Given the description of an element on the screen output the (x, y) to click on. 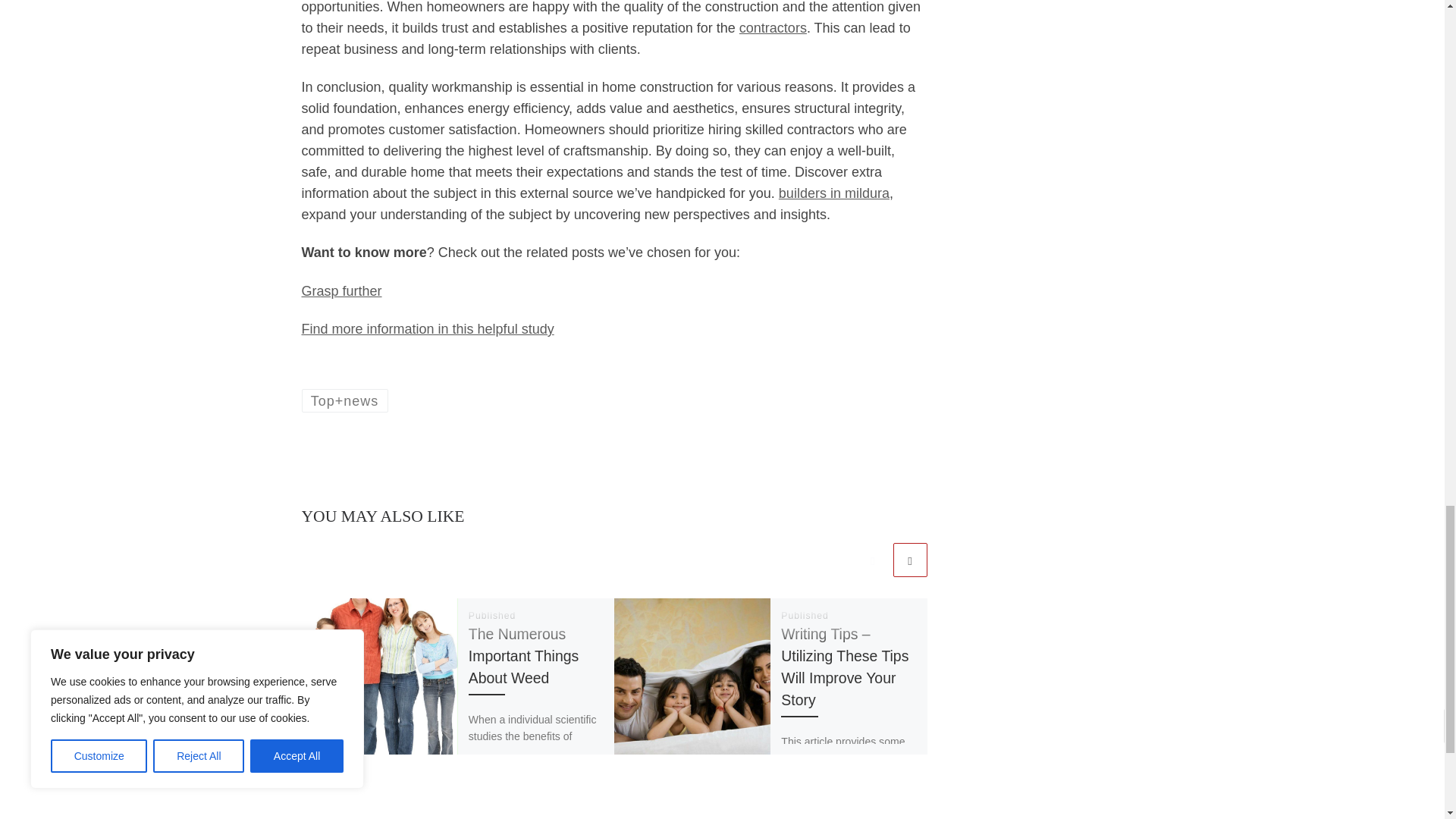
builders in mildura (833, 192)
Previous related articles (872, 559)
contractors (772, 28)
Next related articles (910, 559)
Find more information in this helpful study (427, 328)
Grasp further (341, 290)
